Given the description of an element on the screen output the (x, y) to click on. 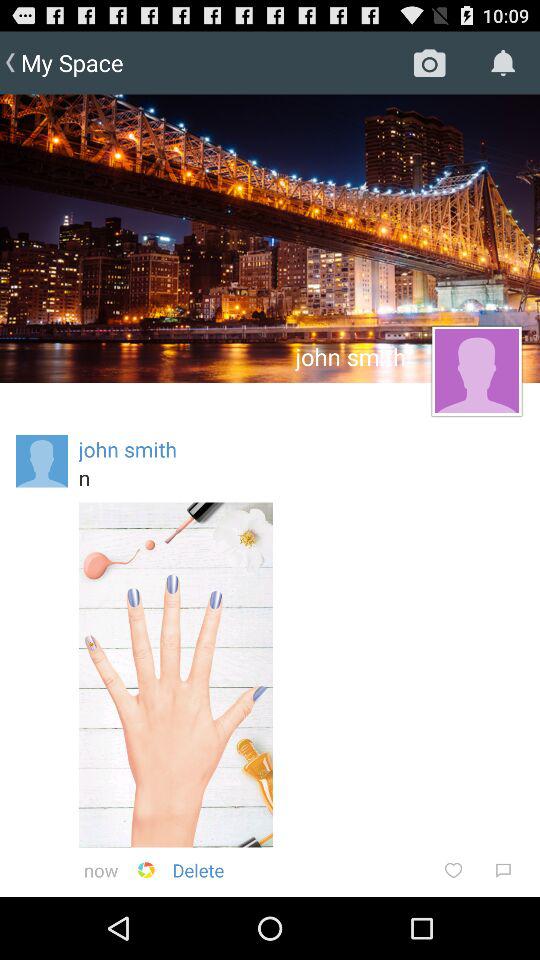
click on image icon beside john smith text (476, 371)
move to text which is above the n (127, 448)
click on the text field below john smith (300, 477)
select the image (175, 675)
select the camera icon on the page (430, 63)
click on the notification icon (503, 63)
